Given the description of an element on the screen output the (x, y) to click on. 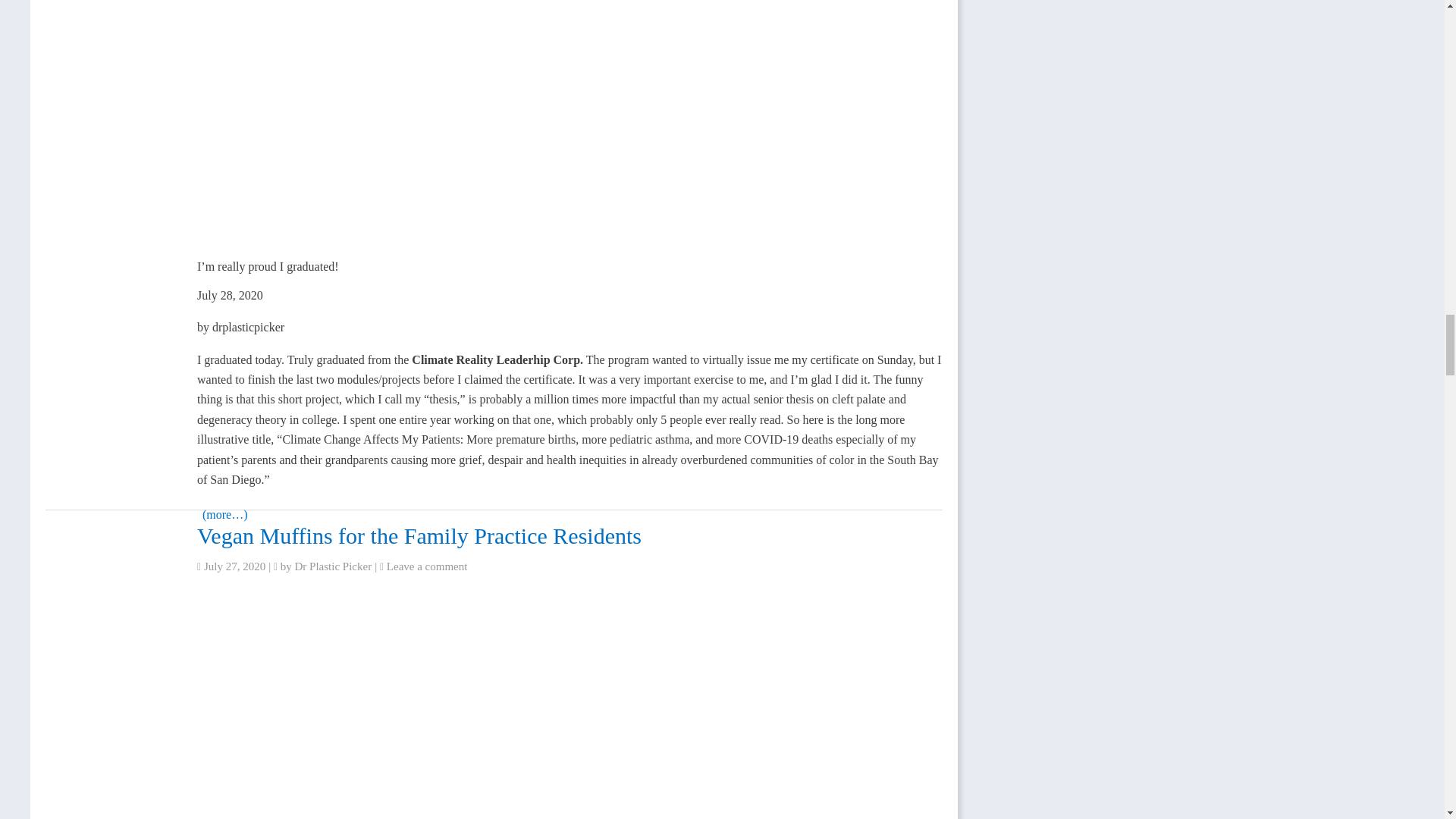
Dr Plastic Picker (333, 566)
Leave a comment (427, 566)
Vegan Muffins for the Family Practice Residents (419, 535)
